Given the description of an element on the screen output the (x, y) to click on. 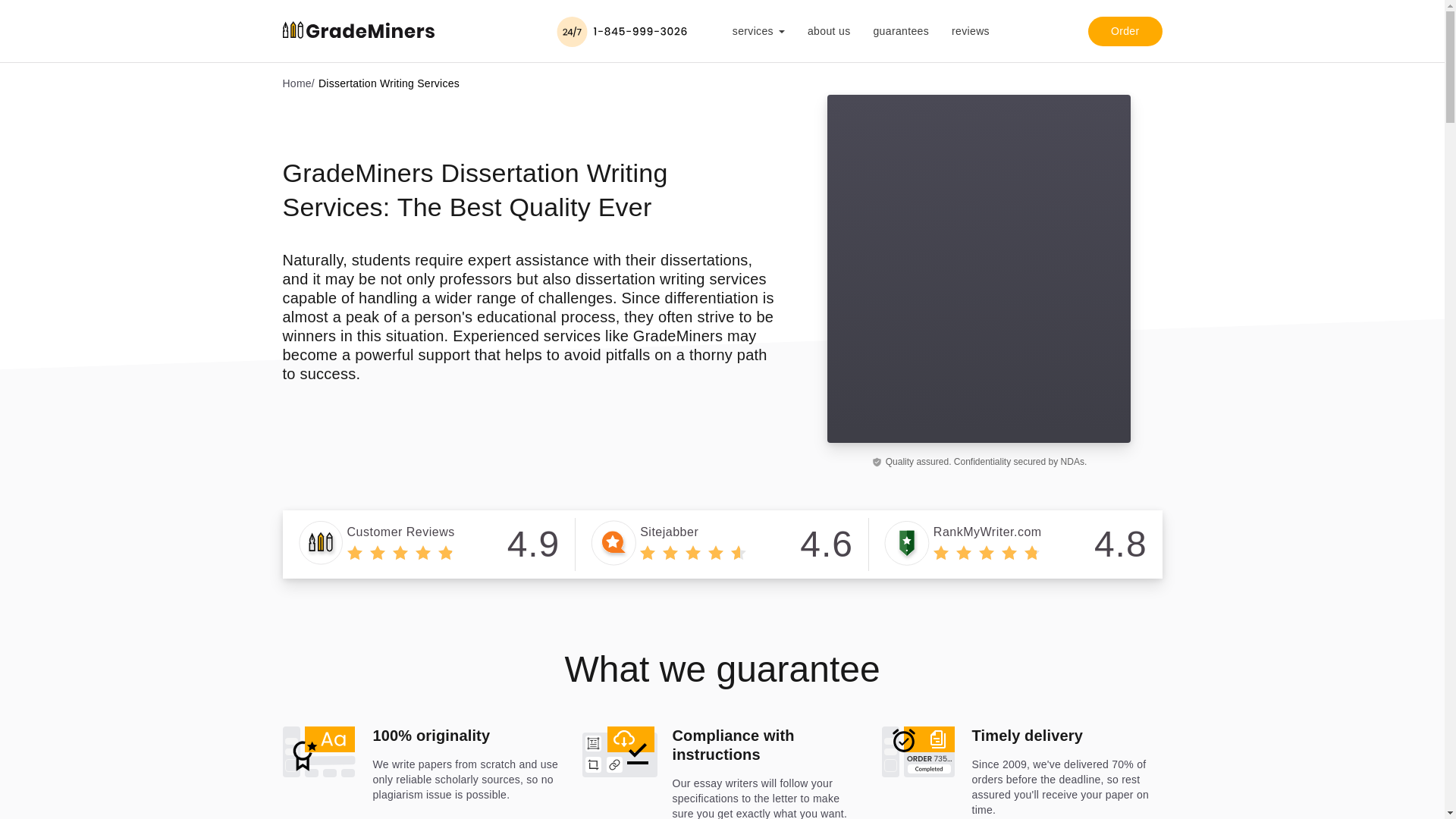
Home (297, 82)
services (770, 37)
Order (1124, 30)
Go to Home. (297, 82)
about us (840, 30)
reviews (428, 544)
guarantees (981, 30)
